Given the description of an element on the screen output the (x, y) to click on. 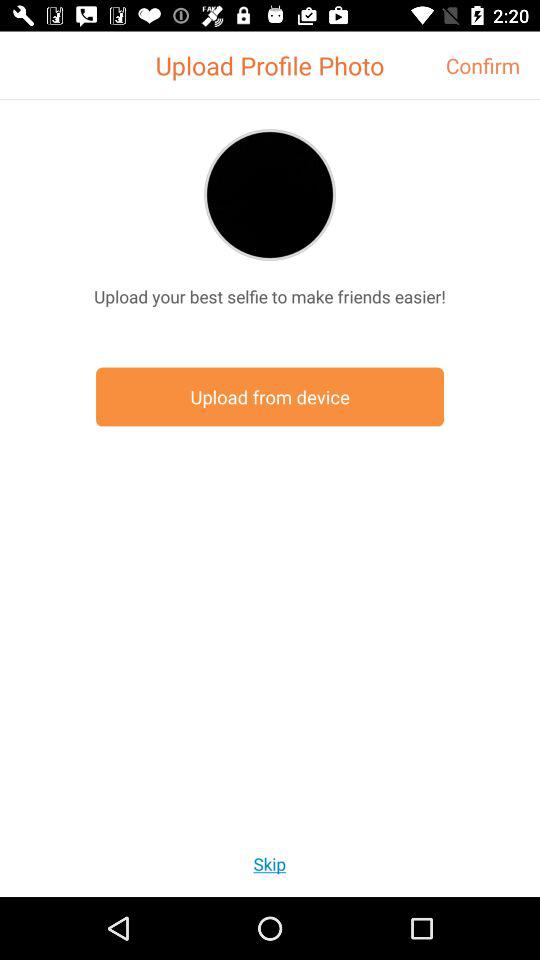
turn off the upload your best app (269, 296)
